Given the description of an element on the screen output the (x, y) to click on. 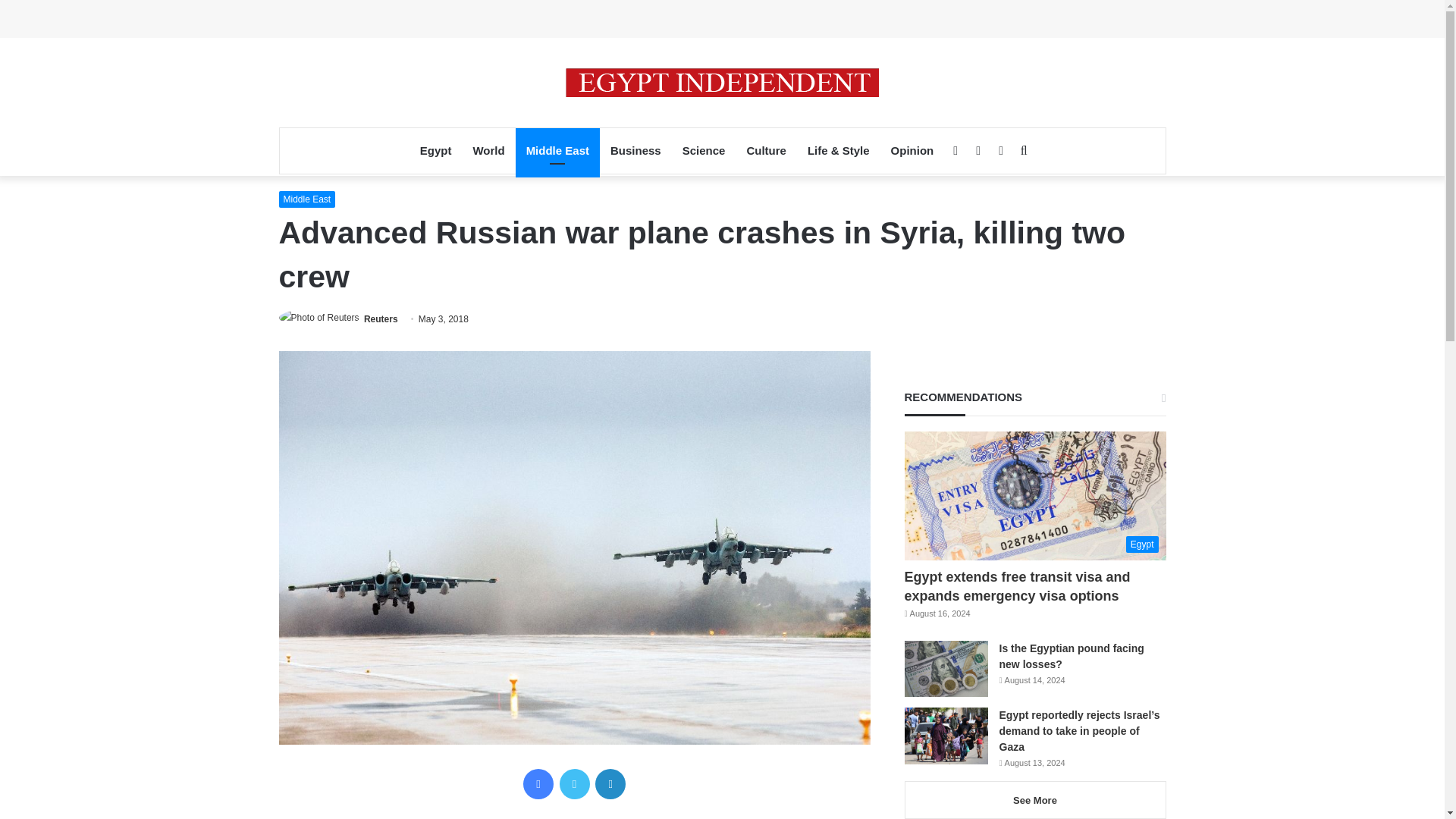
Culture (765, 150)
Twitter (574, 784)
Reuters (380, 318)
Egypt Independent (722, 82)
LinkedIn (610, 784)
Science (703, 150)
Facebook (537, 784)
Twitter (574, 784)
LinkedIn (610, 784)
Opinion (912, 150)
